Given the description of an element on the screen output the (x, y) to click on. 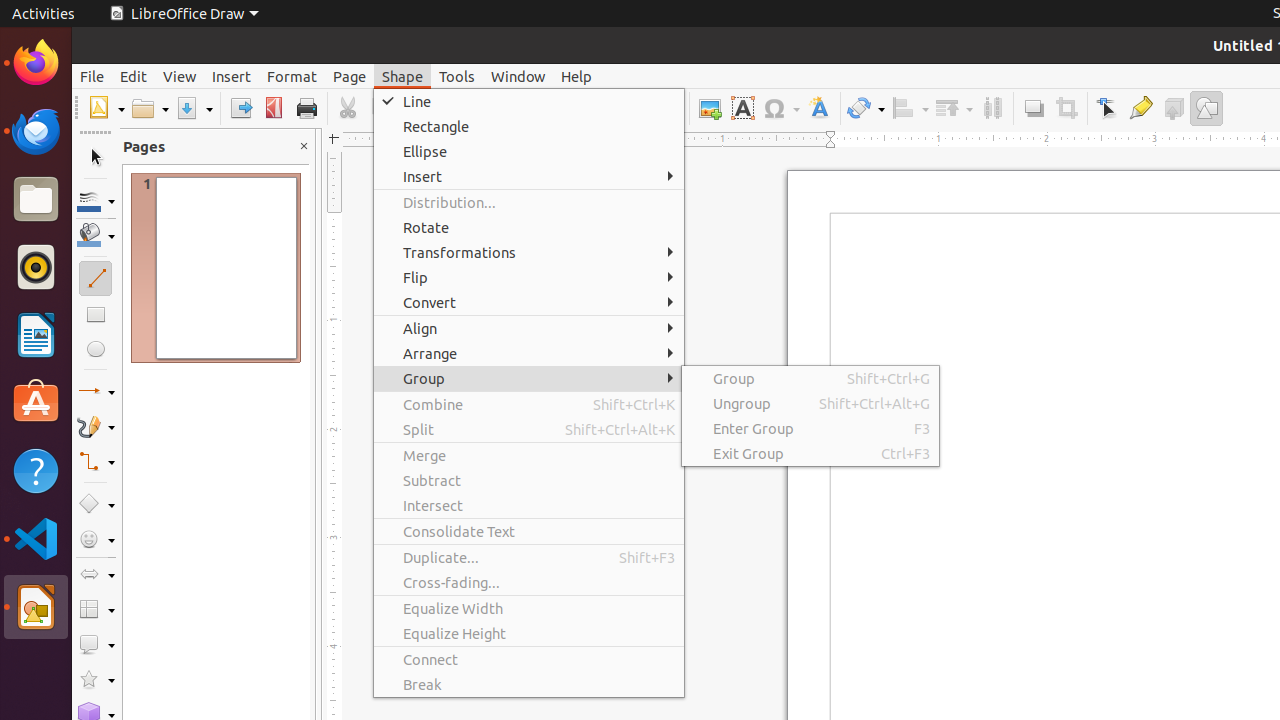
Save Element type: push-button (194, 108)
Exit Group Element type: menu-item (810, 453)
PDF Element type: push-button (273, 108)
Combine Element type: menu-item (529, 404)
Page Element type: menu (349, 76)
